Given the description of an element on the screen output the (x, y) to click on. 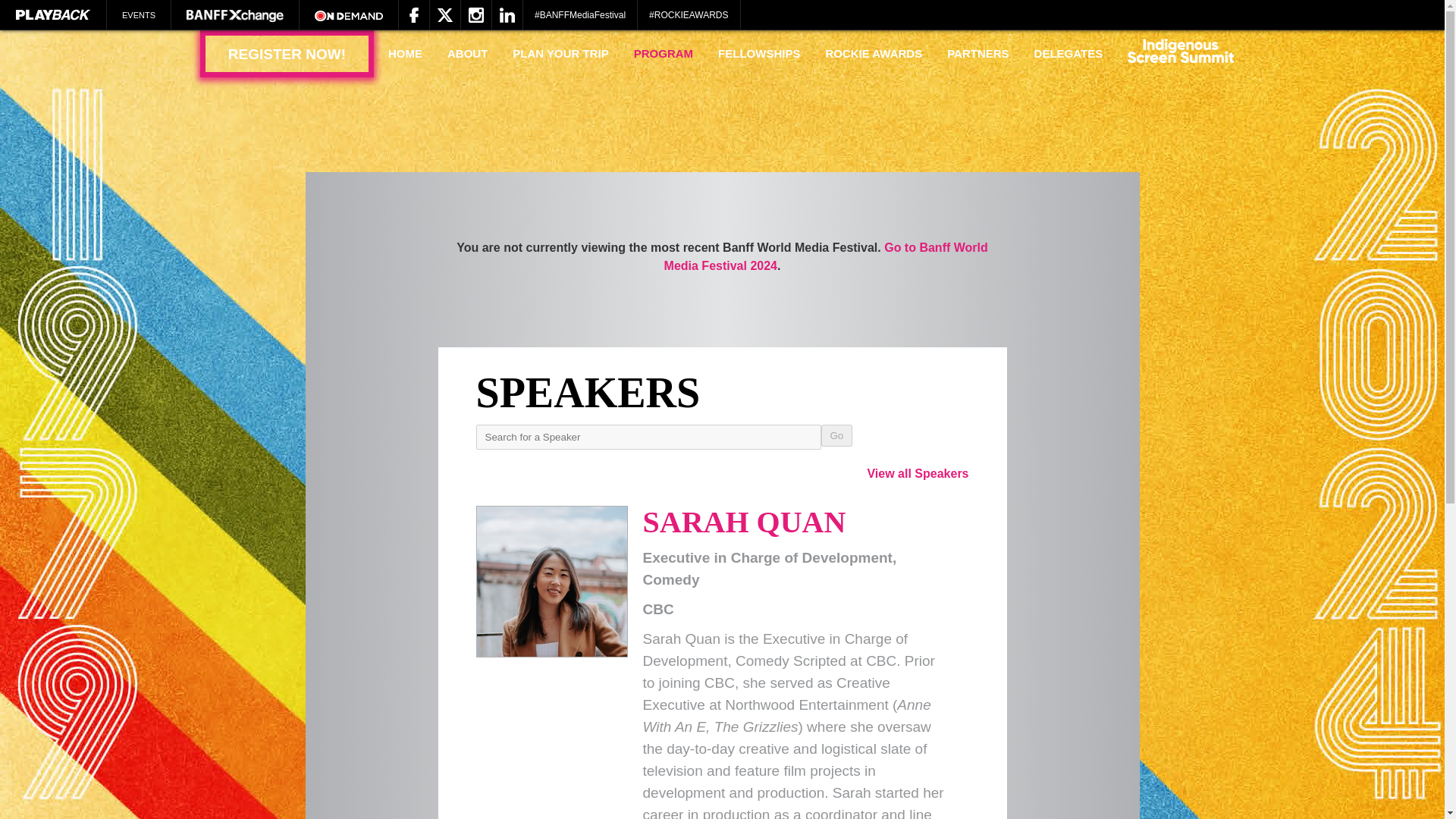
EVENTS (138, 15)
PROGRAM (663, 53)
HOME (405, 53)
ABOUT (467, 53)
FELLOWSHIPS (758, 53)
PLAN YOUR TRIP (560, 53)
REGISTER NOW! (287, 53)
Go (836, 435)
